Given the description of an element on the screen output the (x, y) to click on. 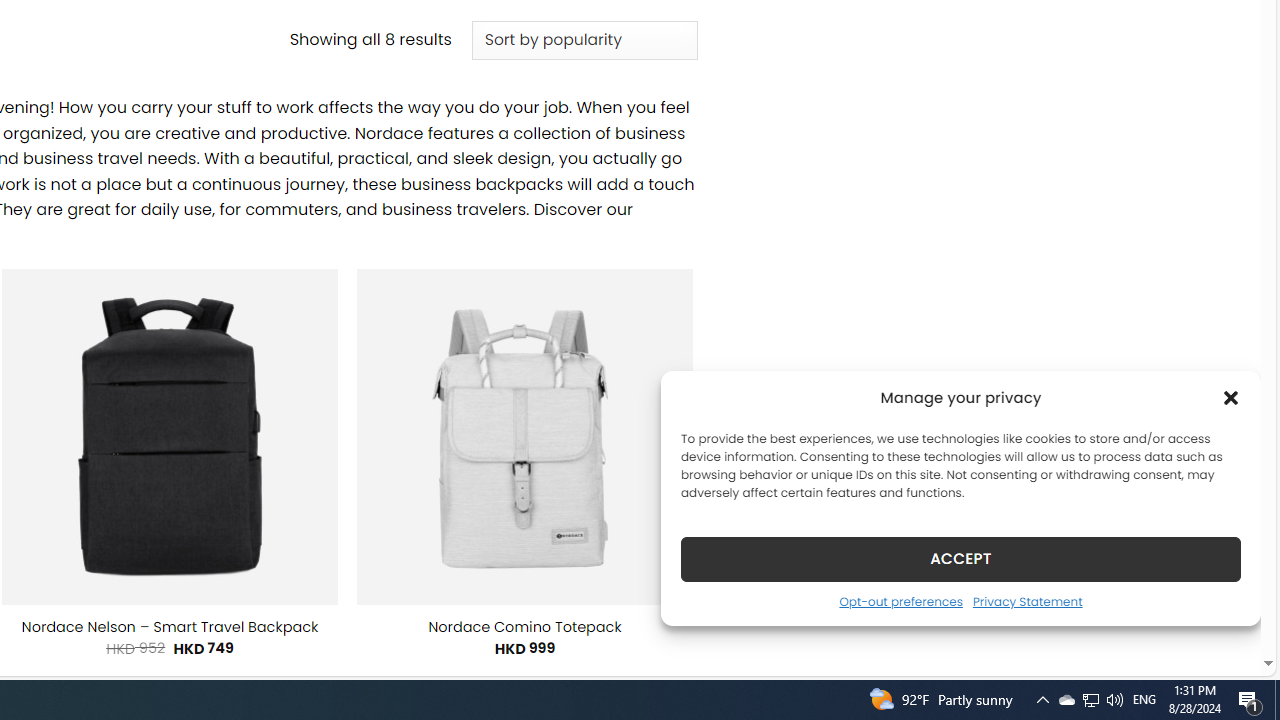
Nordace Comino Totepack (524, 627)
Class: cmplz-close (1231, 397)
Privacy Statement (1026, 601)
Shop order (584, 40)
Opt-out preferences (900, 601)
ACCEPT (960, 558)
